Given the description of an element on the screen output the (x, y) to click on. 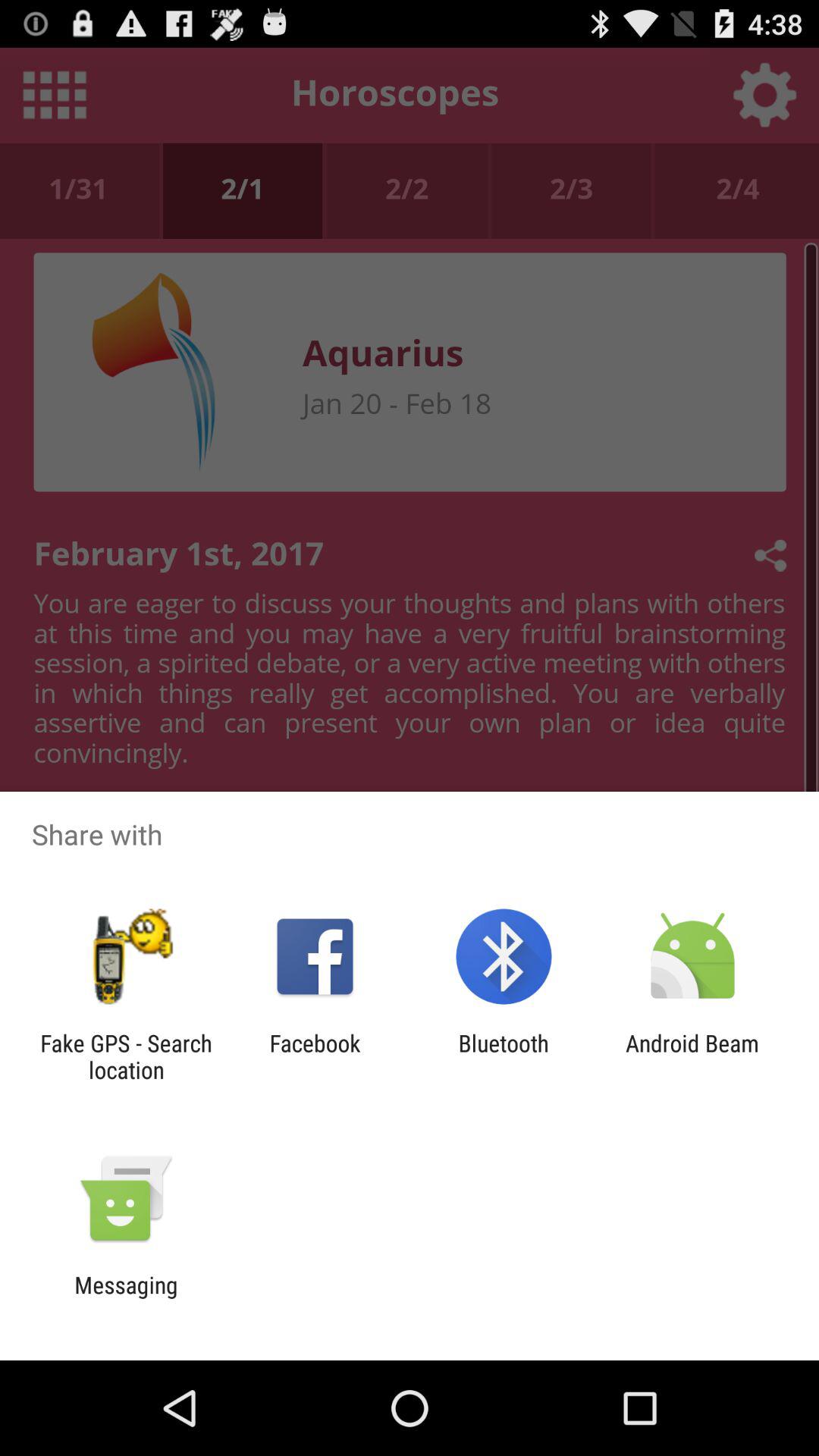
turn on the icon to the left of bluetooth icon (314, 1056)
